Given the description of an element on the screen output the (x, y) to click on. 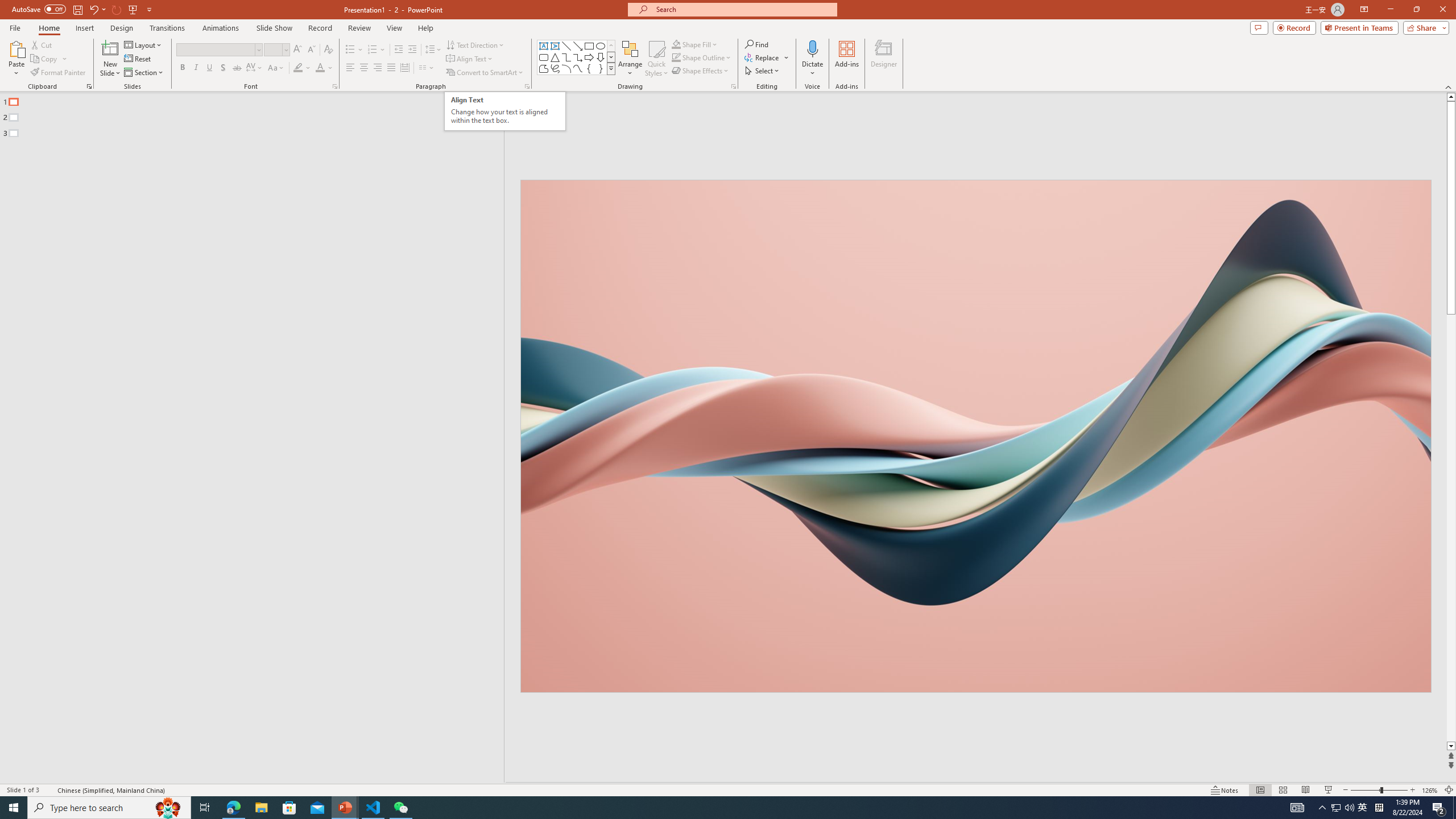
Zoom 126% (1430, 790)
